Given the description of an element on the screen output the (x, y) to click on. 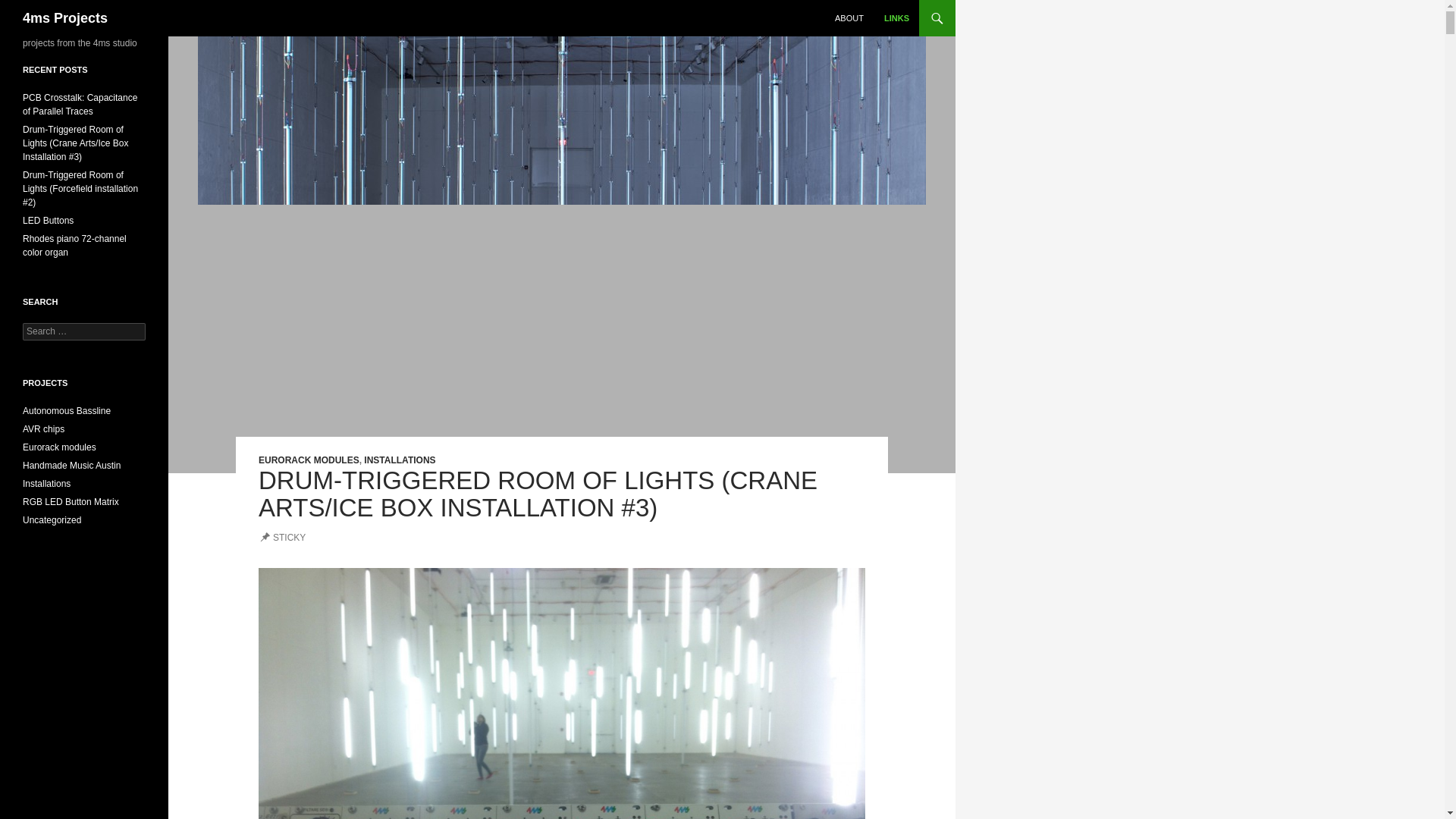
INSTALLATIONS (399, 460)
LINKS (896, 18)
ABOUT (848, 18)
4ms Projects (65, 18)
EURORACK MODULES (309, 460)
